Given the description of an element on the screen output the (x, y) to click on. 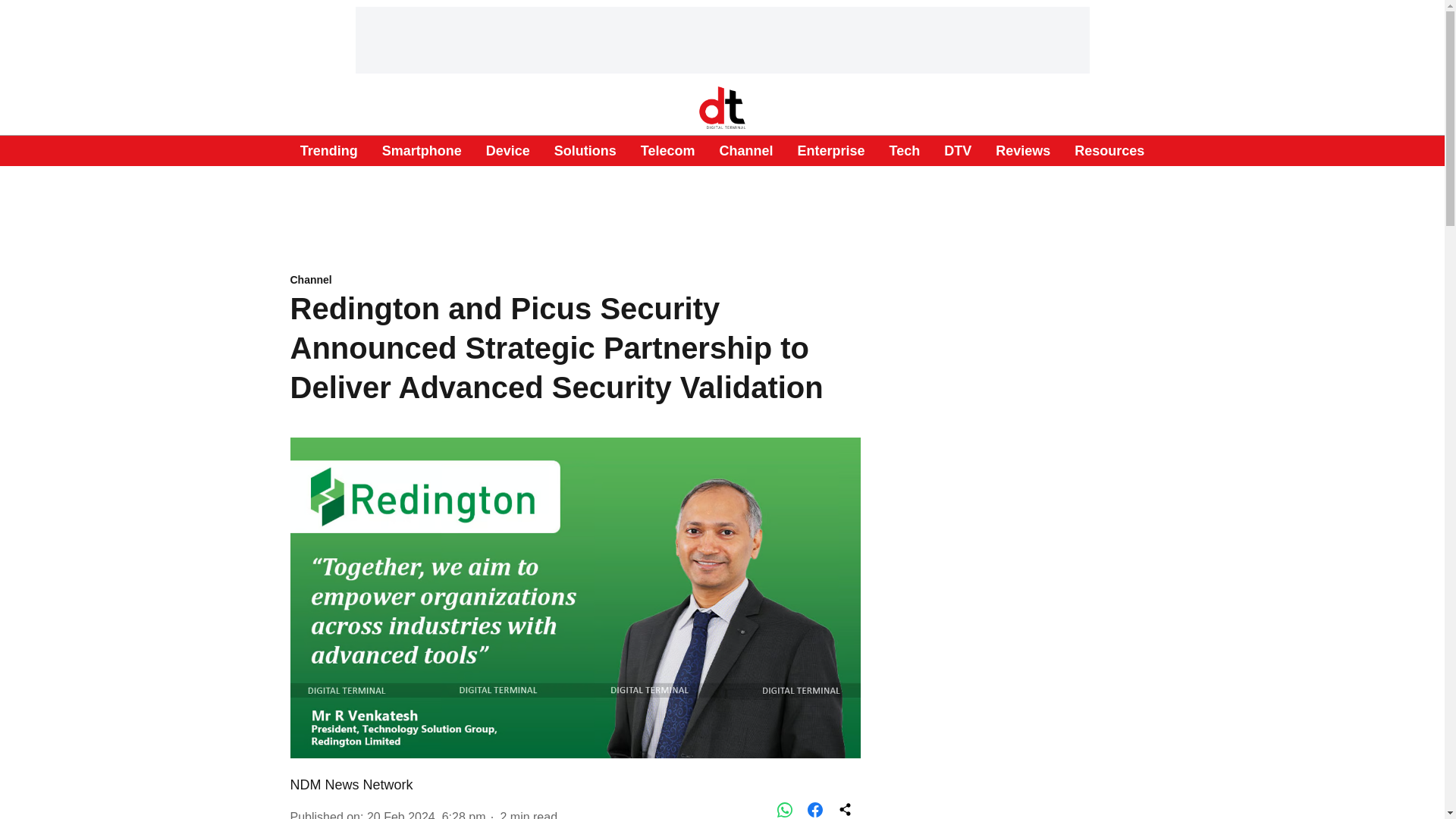
3rd party ad content (722, 39)
3rd party ad content (722, 205)
Reviews (1022, 150)
Trending (328, 150)
Channel (746, 150)
Smartphone (421, 150)
Enterprise (830, 150)
Solutions (584, 150)
3rd party ad content (1015, 562)
Device (507, 150)
Telecom (667, 150)
Channel (574, 280)
2024-02-20 10:28 (426, 814)
DTV (957, 150)
